Given the description of an element on the screen output the (x, y) to click on. 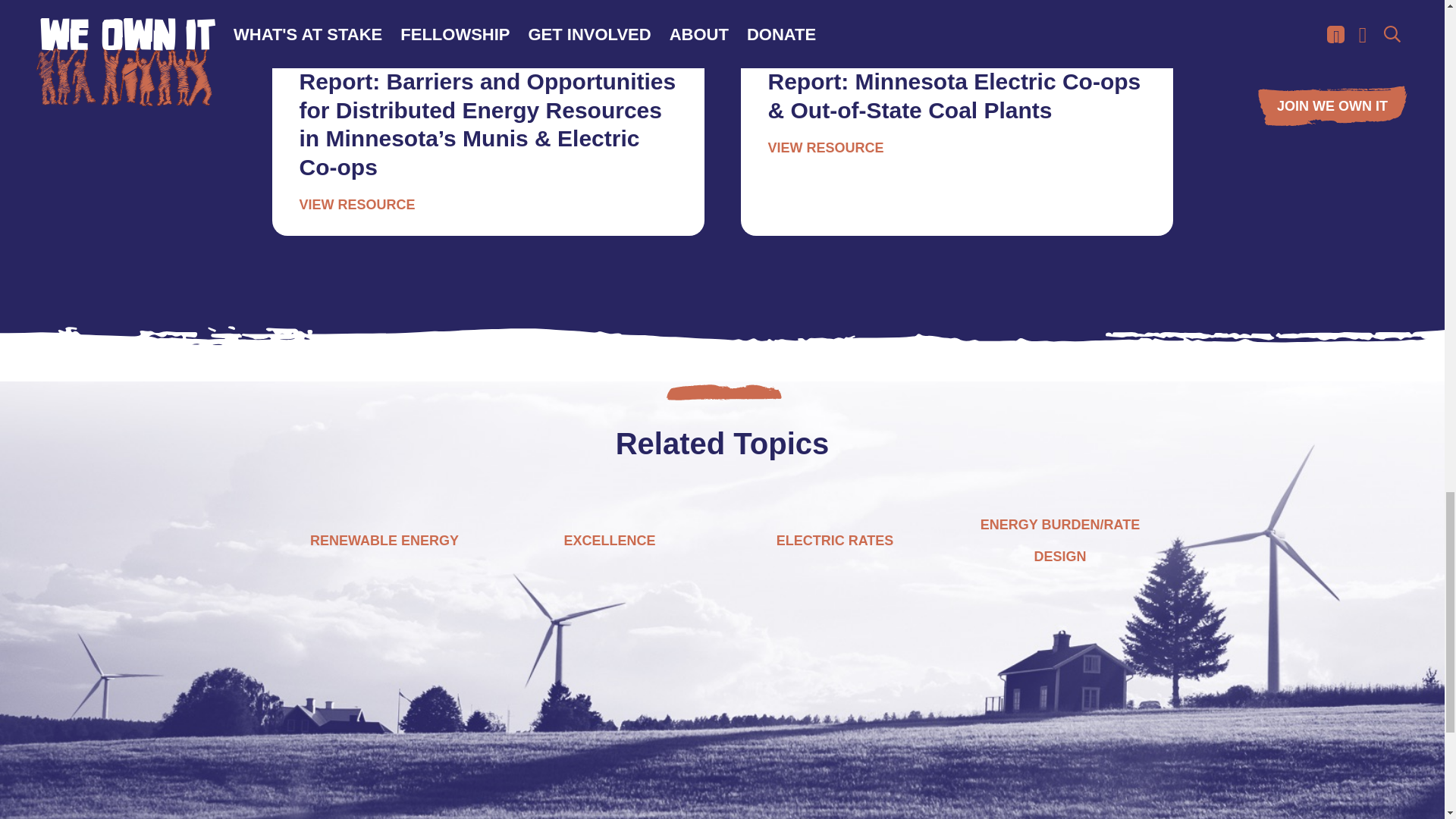
EXCELLENCE (609, 540)
RENEWABLE ENERGY (384, 540)
ELECTRIC RATES (834, 540)
